Given the description of an element on the screen output the (x, y) to click on. 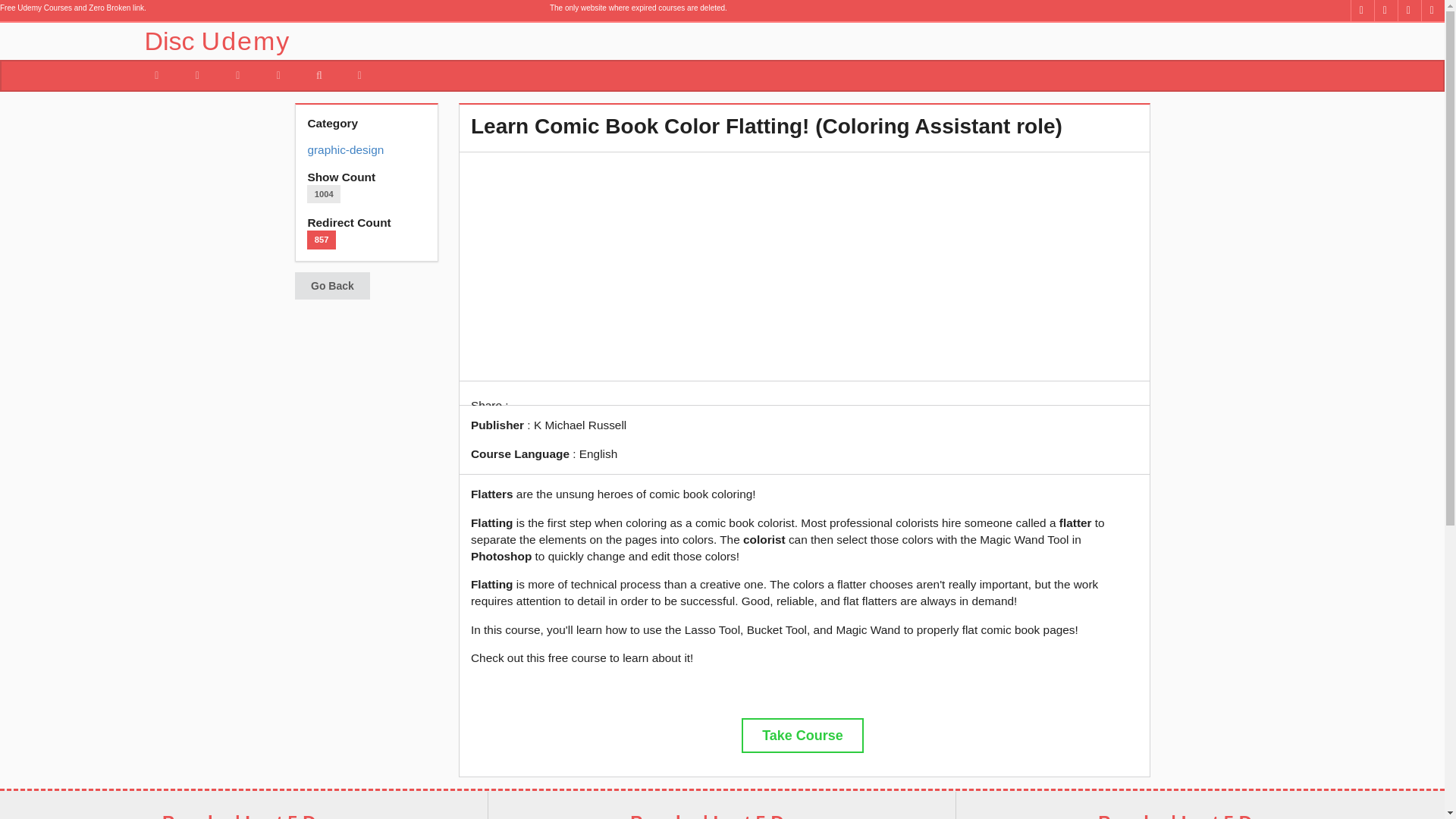
RSS (1432, 10)
Twitter (1385, 10)
DiscUdemy (794, 40)
Linkedin (1409, 10)
graphic-design (345, 149)
Facebook (1362, 10)
Take Course (802, 735)
